Given the description of an element on the screen output the (x, y) to click on. 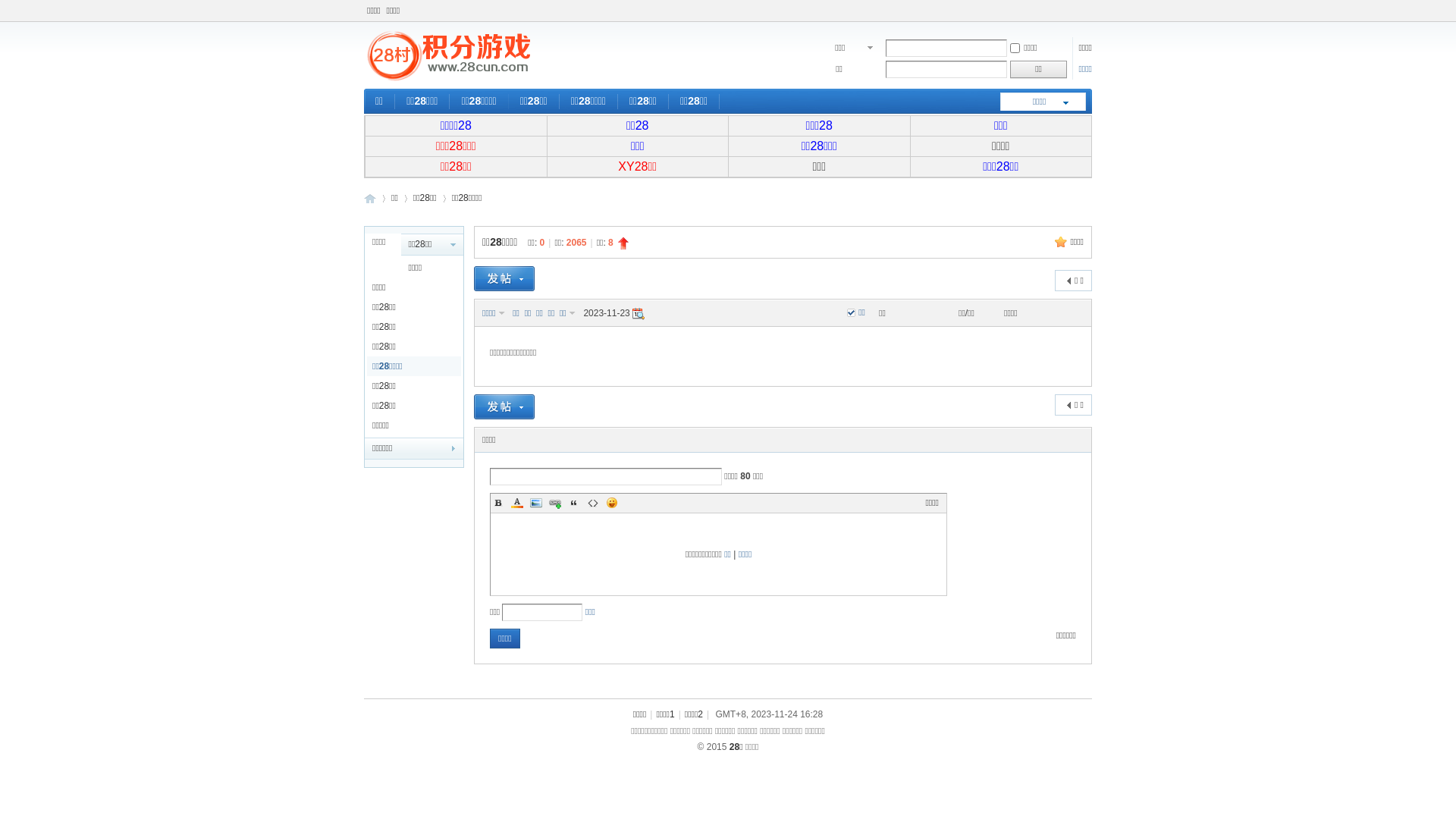
Color Element type: text (516, 502)
2023-11-23 Element type: text (638, 313)
B Element type: text (497, 502)
Quote Element type: text (573, 502)
Image Element type: text (535, 502)
Code Element type: text (592, 502)
Smilies Element type: text (611, 502)
Link Element type: text (554, 502)
